Given the description of an element on the screen output the (x, y) to click on. 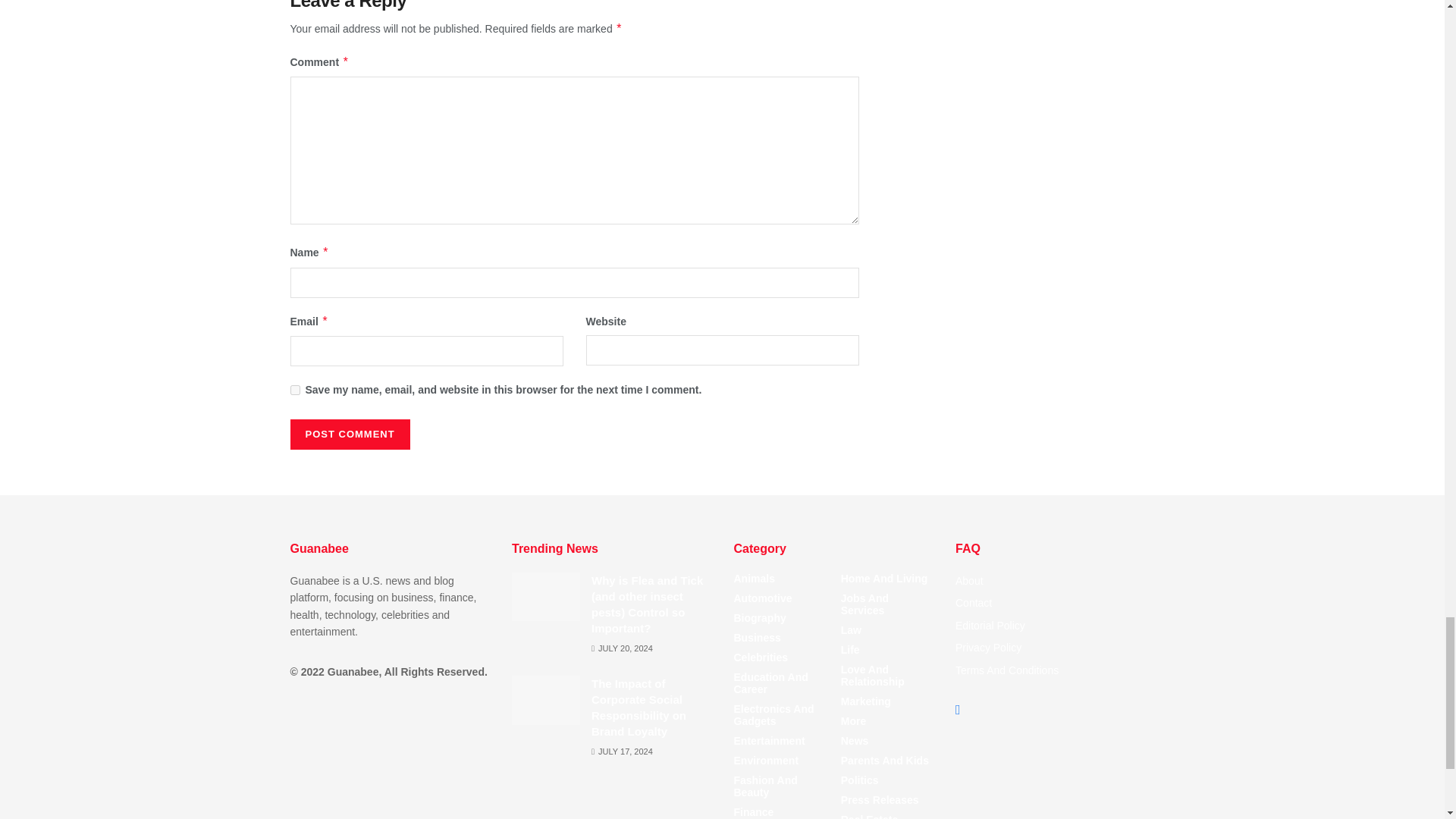
Post Comment (349, 434)
yes (294, 389)
